Given the description of an element on the screen output the (x, y) to click on. 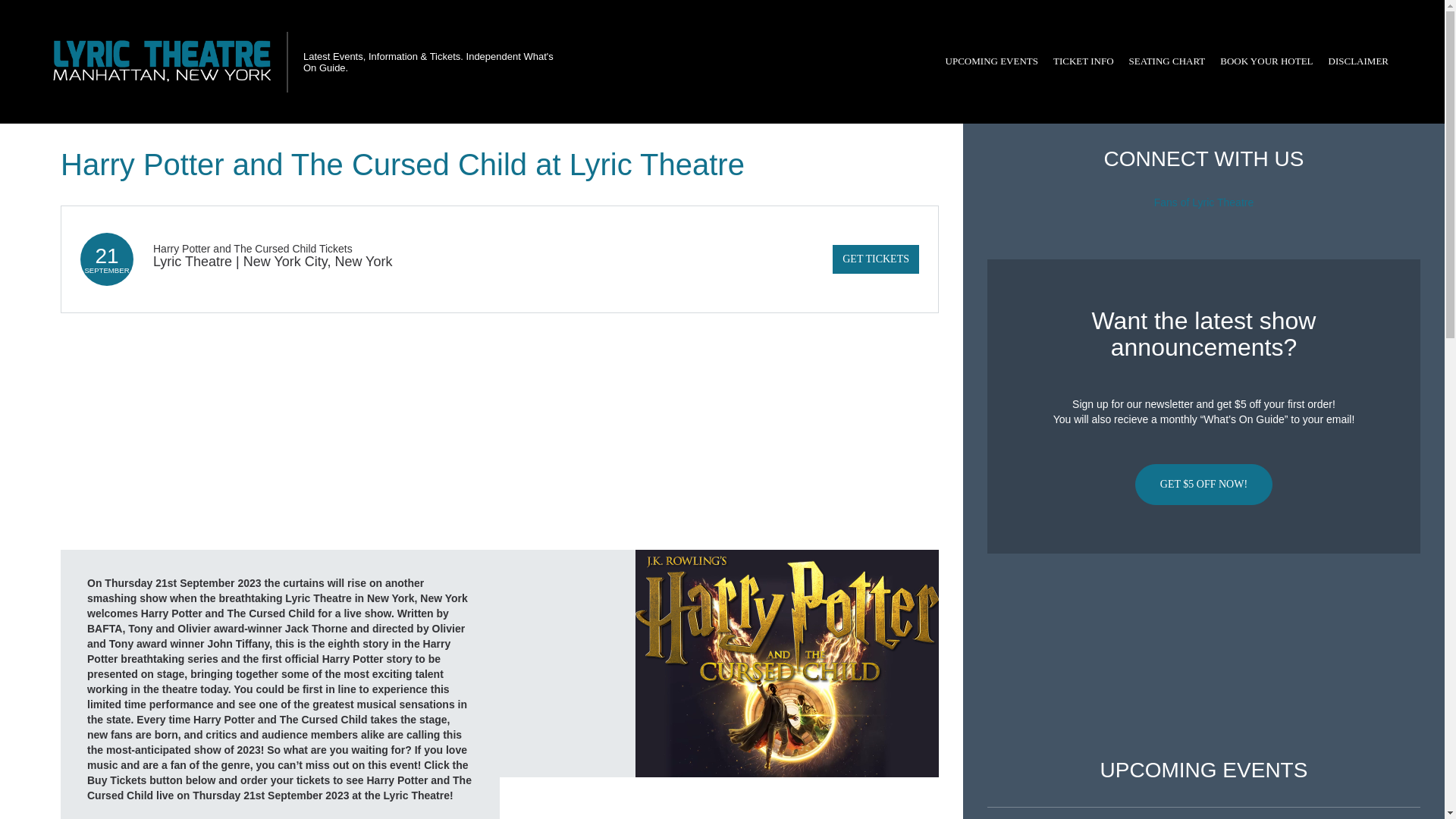
BOOK YOUR HOTEL (1266, 61)
GET TICKETS (875, 258)
Fans of Lyric Theatre (1203, 202)
TICKET INFO (1083, 61)
Harry Potter and The Cursed Child Tickets (252, 248)
UPCOMING EVENTS (991, 61)
SEATING CHART (1166, 61)
Advertisement (1204, 655)
Harry Potter and The Cursed Child at Lyric Theatre (786, 663)
DISCLAIMER (1358, 61)
